Given the description of an element on the screen output the (x, y) to click on. 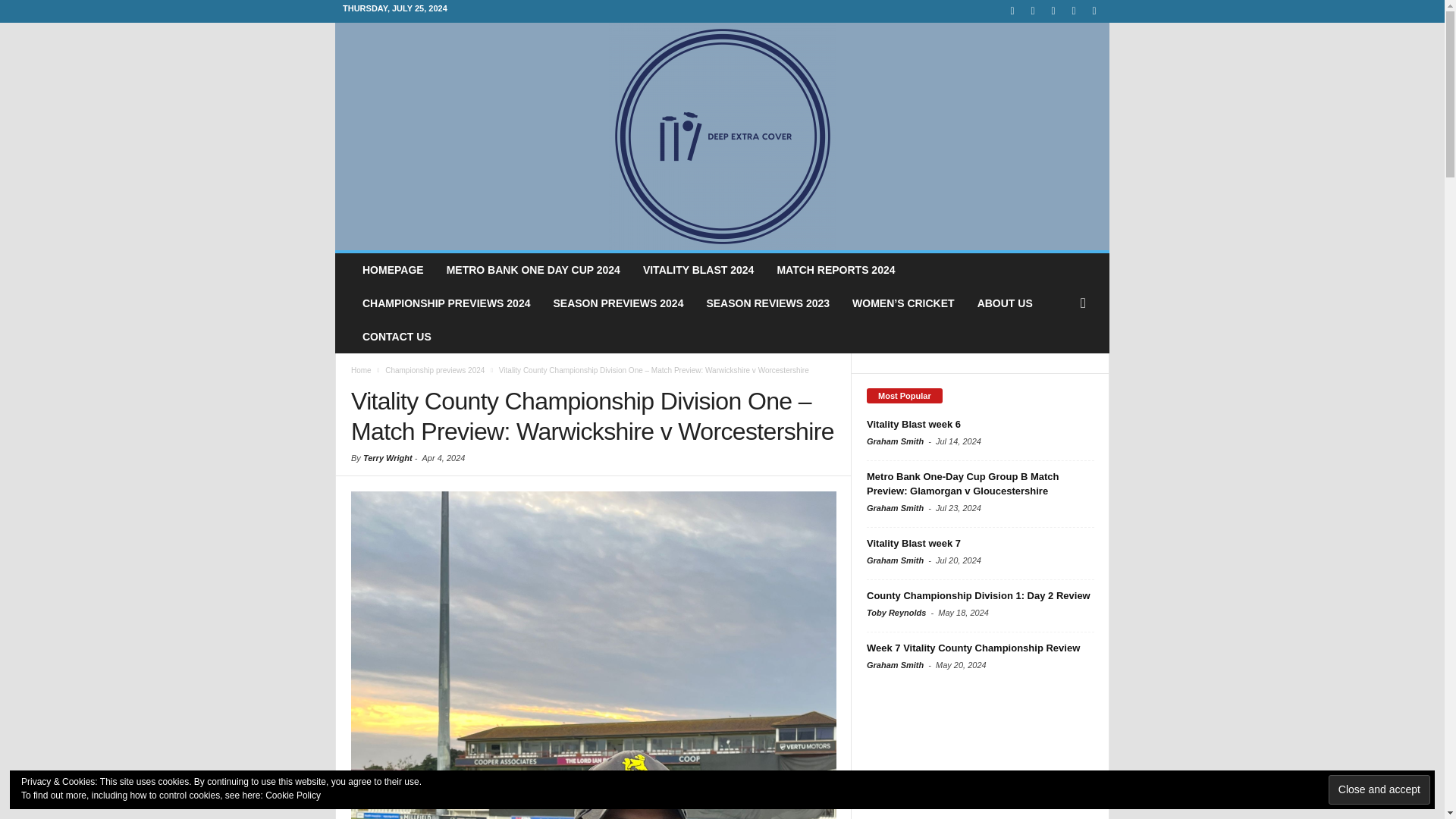
Terry Wright (387, 457)
SEASON PREVIEWS 2024 (617, 303)
Rss (1073, 10)
ABOUT US (1004, 303)
Facebook (1012, 10)
SEASON REVIEWS 2023 (767, 303)
VITALITY BLAST 2024 (698, 269)
Close and accept (1378, 789)
MATCH REPORTS 2024 (835, 269)
HOMEPAGE (392, 269)
Home (360, 370)
www.deepextracover.com (721, 136)
Instagram (1032, 10)
METRO BANK ONE DAY CUP 2024 (533, 269)
CHAMPIONSHIP PREVIEWS 2024 (445, 303)
